Given the description of an element on the screen output the (x, y) to click on. 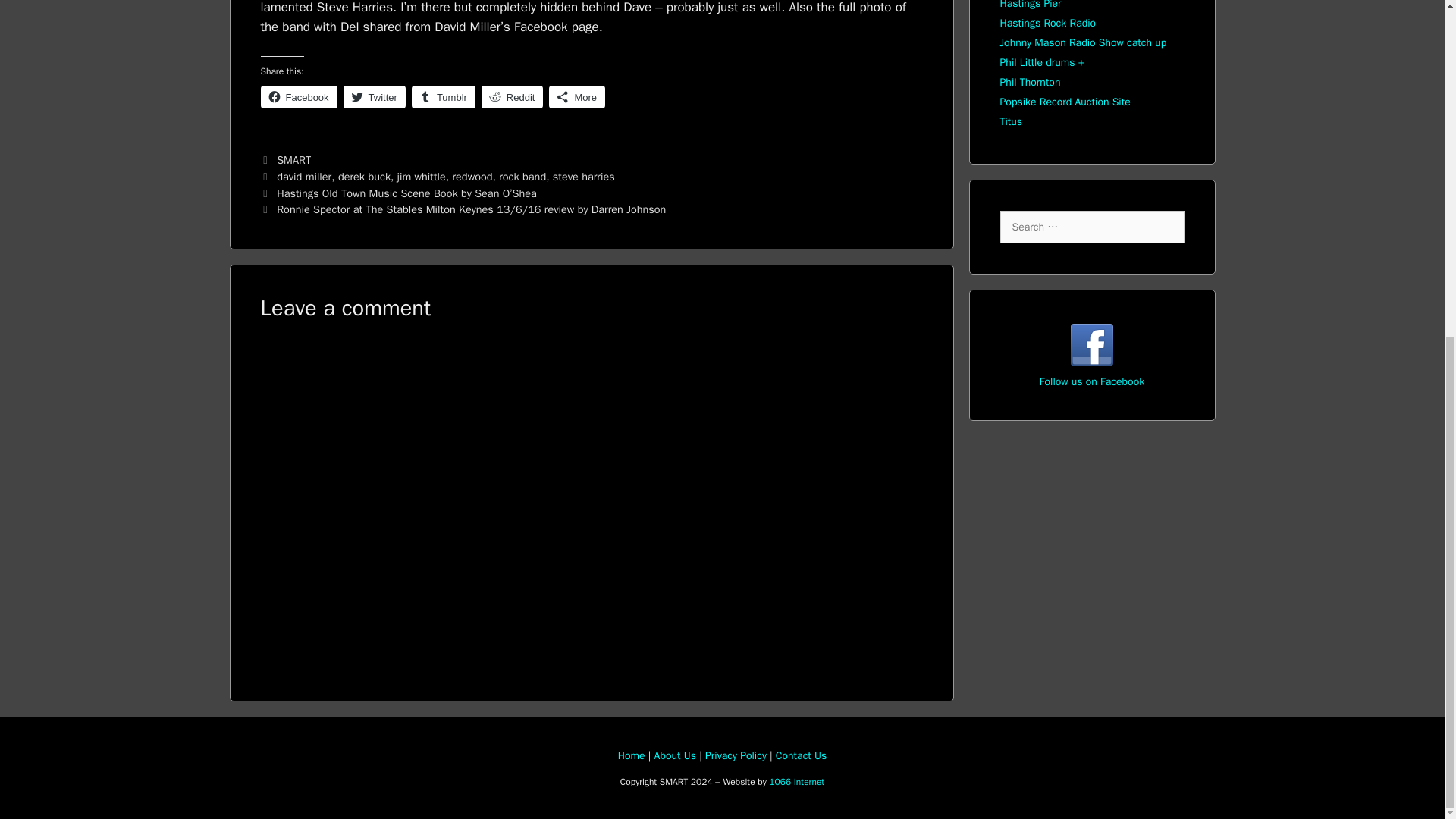
Facebook (298, 96)
steve harries (583, 176)
jim whittle (421, 176)
david miller (303, 176)
rock band (522, 176)
derek buck (363, 176)
Tumblr (444, 96)
SMART (293, 160)
Click to share on Twitter (374, 96)
Twitter (374, 96)
Click to share on Tumblr (444, 96)
redwood (471, 176)
More (576, 96)
Reddit (512, 96)
